Given the description of an element on the screen output the (x, y) to click on. 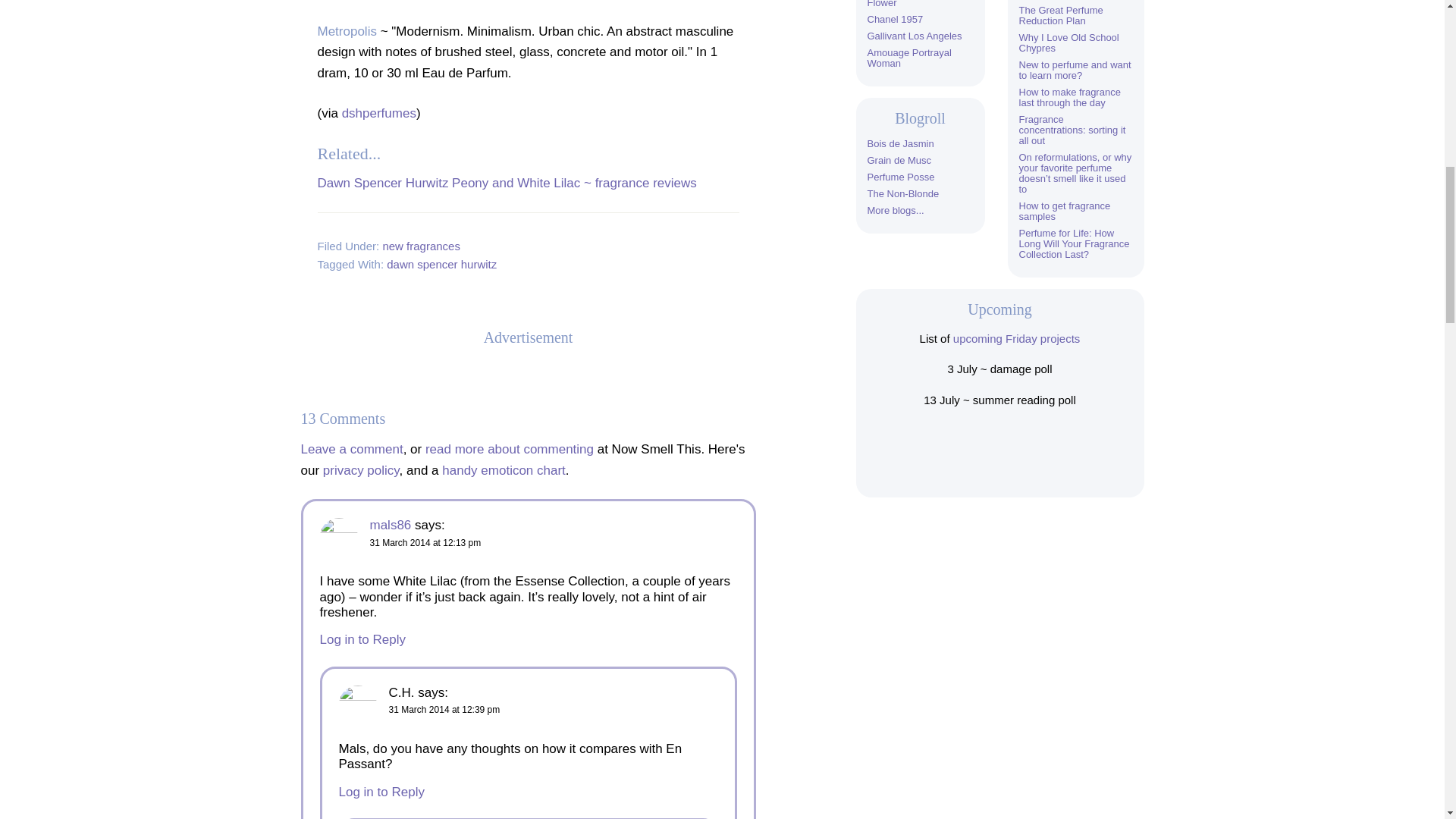
Leave a comment (351, 449)
read more about commenting (509, 449)
mals86 (390, 524)
Log in to Reply (363, 639)
dawn spencer hurwitz (441, 264)
dshperfumes (379, 113)
handy emoticon chart (504, 470)
privacy policy (360, 470)
new fragrances (420, 245)
Log in to Reply (380, 791)
